Given the description of an element on the screen output the (x, y) to click on. 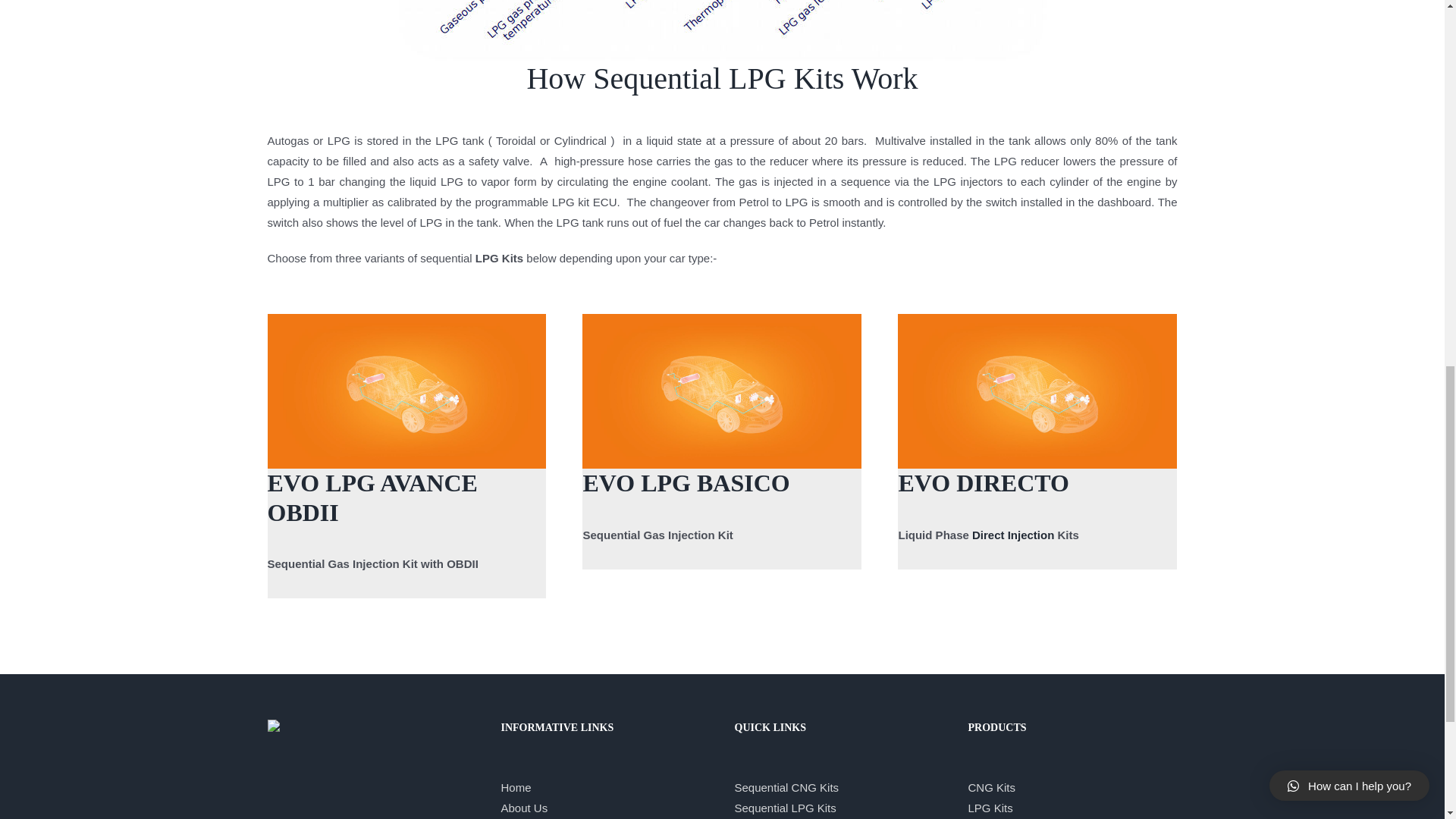
Direct Injection (1013, 534)
Sequential CNG Kits (785, 787)
Sequential LPG Kits (784, 807)
EVO LPG BASICO (685, 482)
EVO LPG AVANCE OBDII (371, 497)
Home (515, 787)
About Us (523, 807)
